Given the description of an element on the screen output the (x, y) to click on. 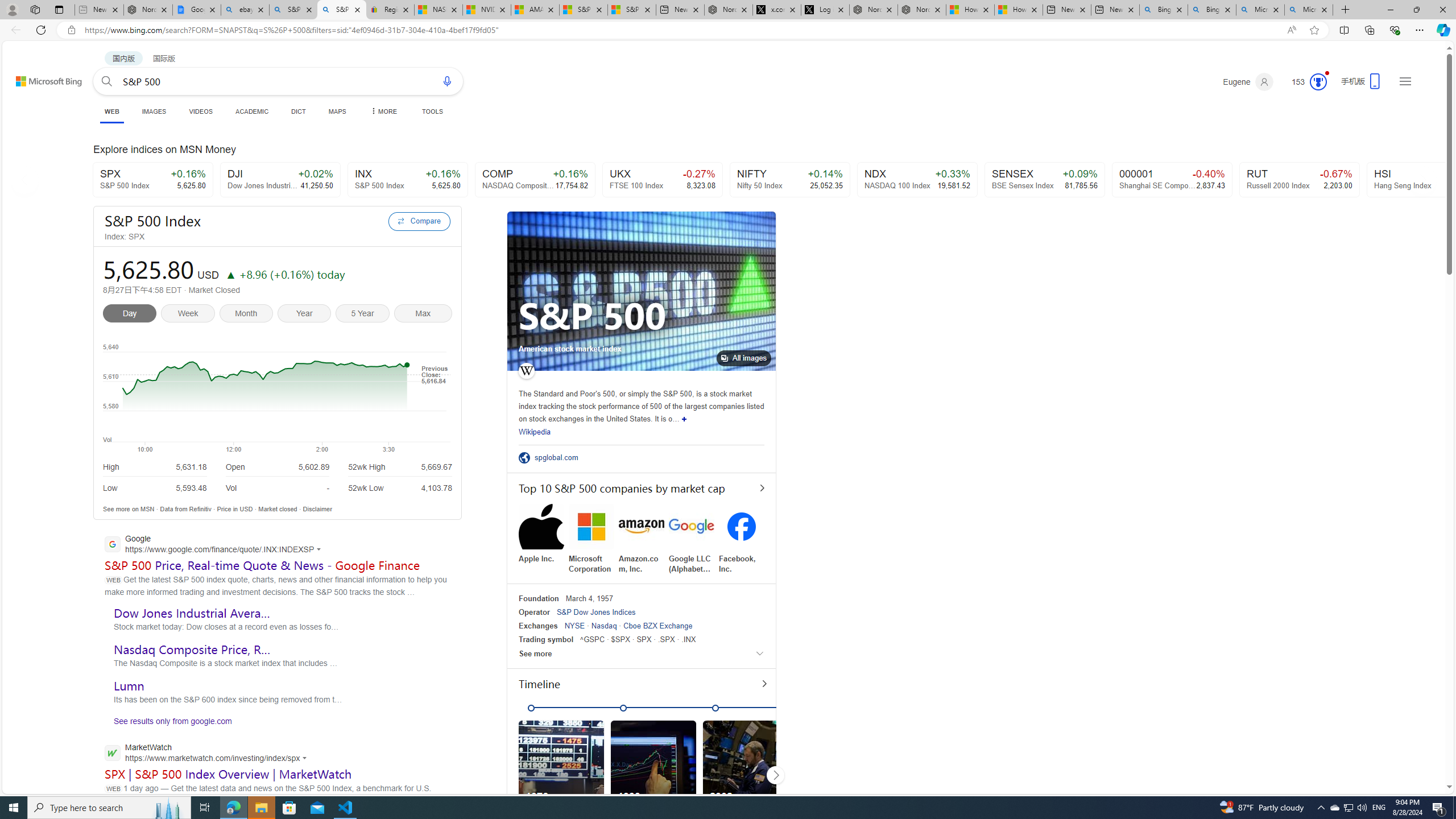
Index: SPX (242, 236)
App bar (728, 29)
DJI +0.02% Dow Jones Industrial Average Index 41,250.50 (280, 179)
Price increase (230, 273)
